Given the description of an element on the screen output the (x, y) to click on. 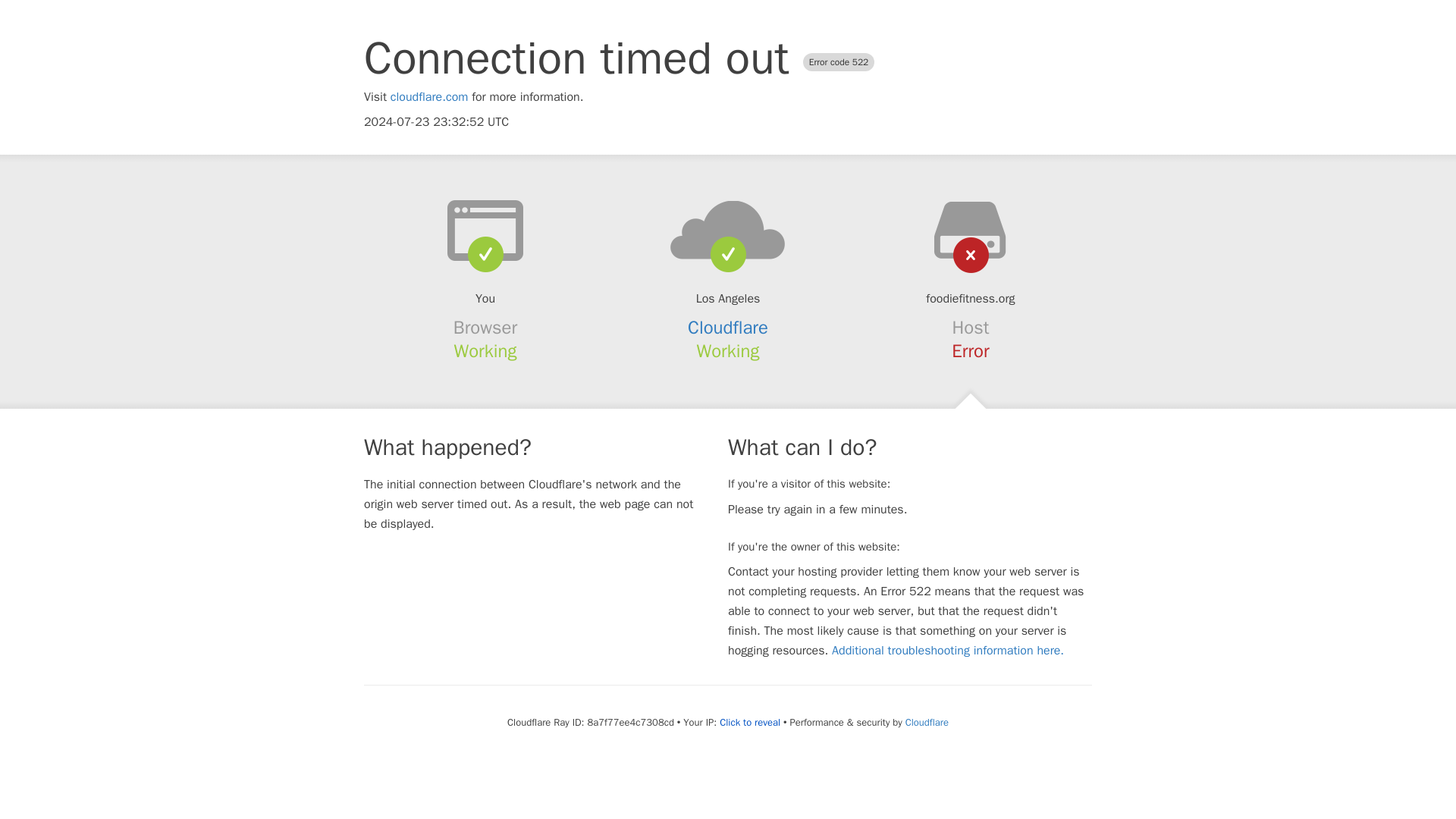
Cloudflare (927, 721)
Additional troubleshooting information here. (947, 650)
Cloudflare (727, 327)
cloudflare.com (429, 96)
Click to reveal (749, 722)
